Given the description of an element on the screen output the (x, y) to click on. 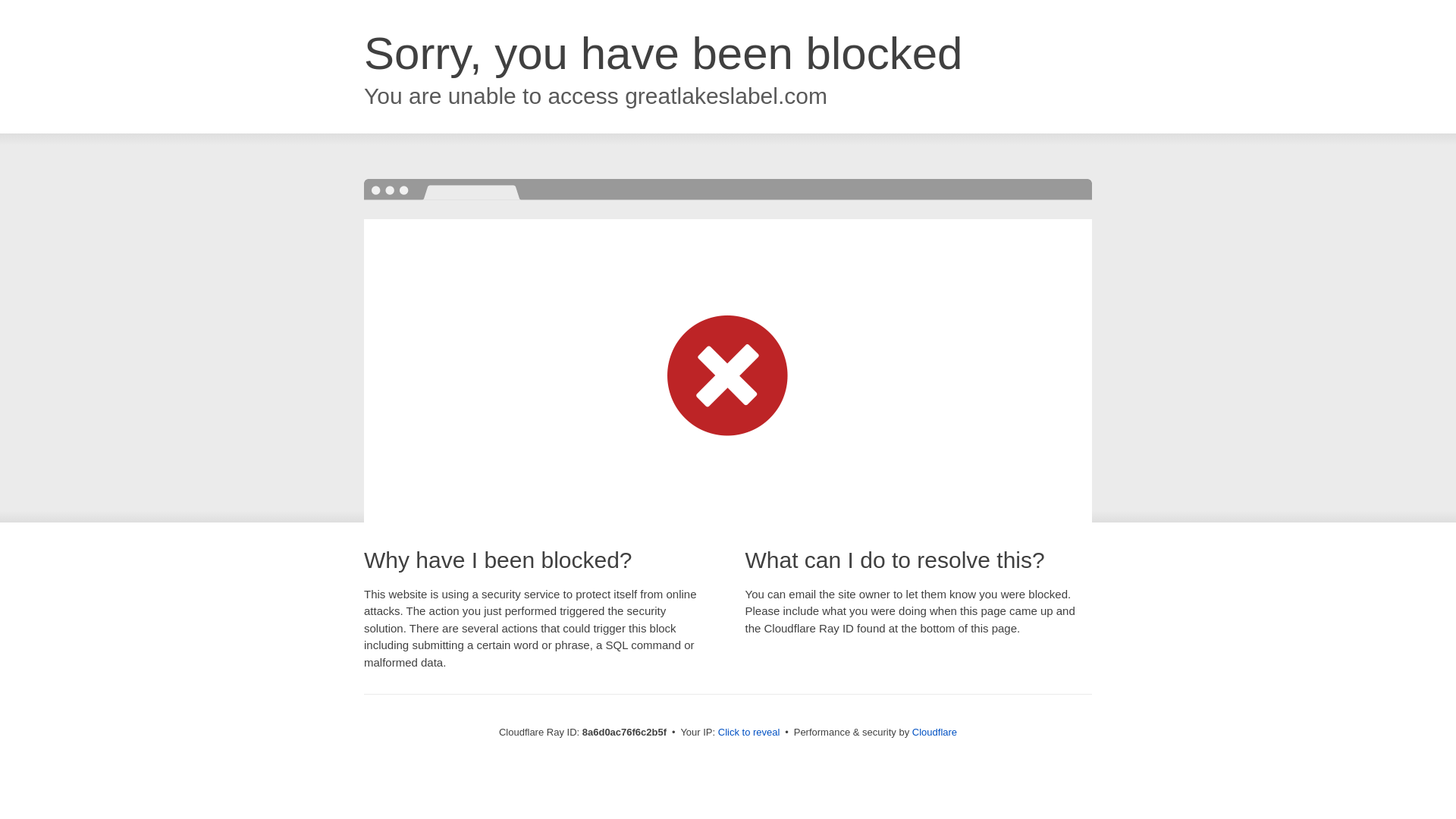
Click to reveal (748, 732)
Cloudflare (934, 731)
